Given the description of an element on the screen output the (x, y) to click on. 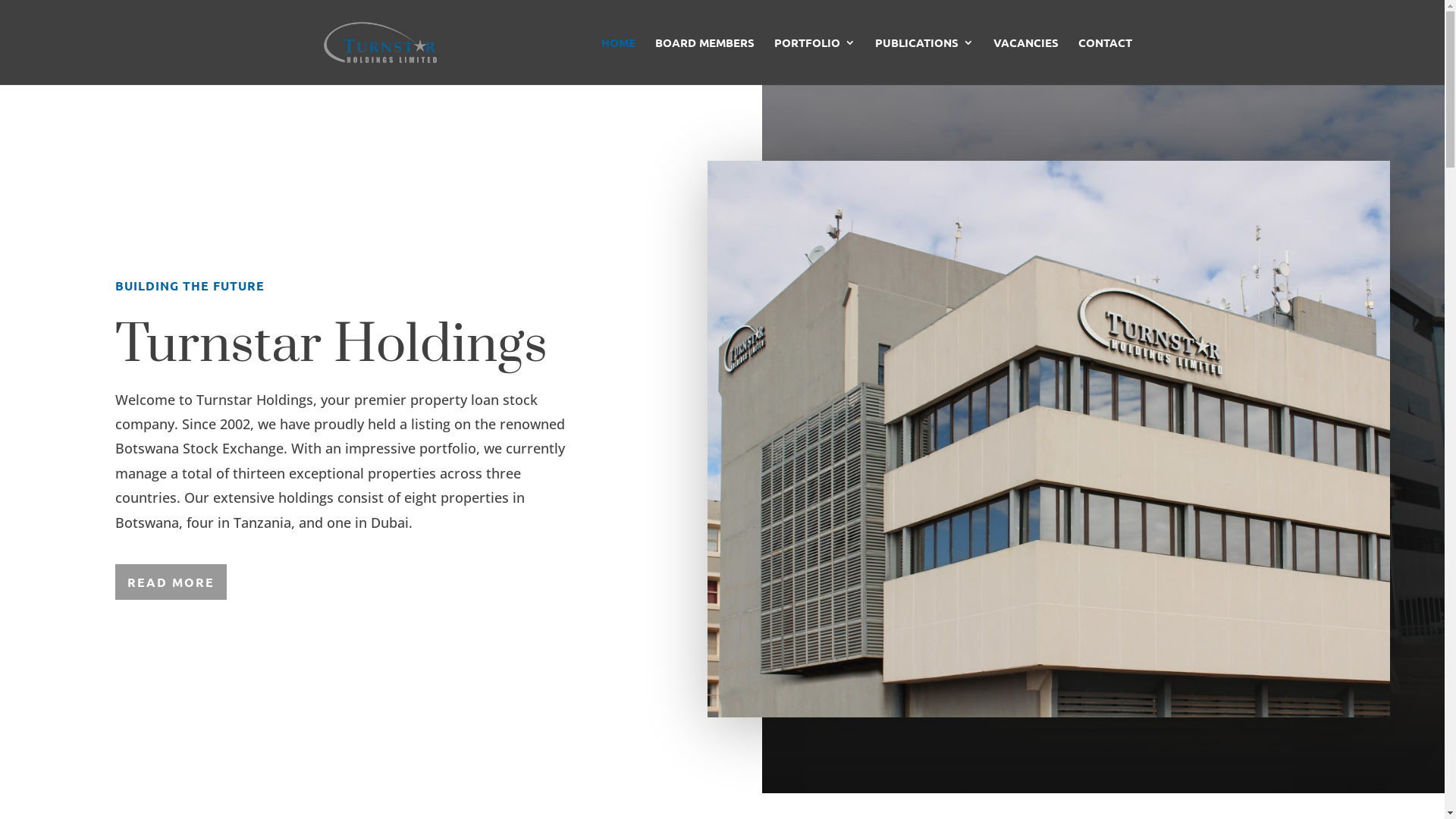
HOME Element type: text (617, 60)
READ MORE Element type: text (170, 581)
CONTACT Element type: text (1105, 60)
BOARD MEMBERS Element type: text (704, 60)
Turnstar-Gaborone-CBD-Building Element type: hover (1048, 438)
PORTFOLIO Element type: text (813, 60)
VACANCIES Element type: text (1025, 60)
PUBLICATIONS Element type: text (924, 60)
